Given the description of an element on the screen output the (x, y) to click on. 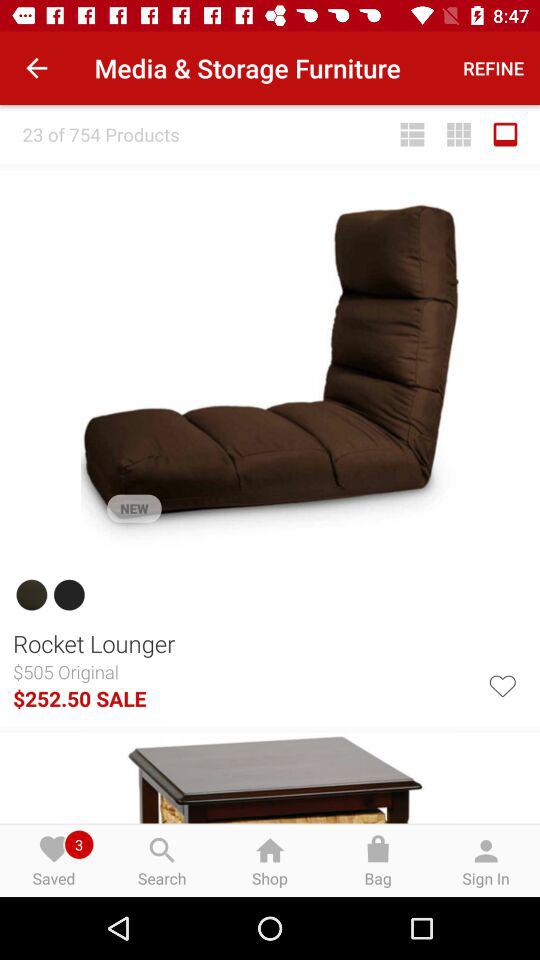
tap the icon next to rocket lounger (501, 683)
